Given the description of an element on the screen output the (x, y) to click on. 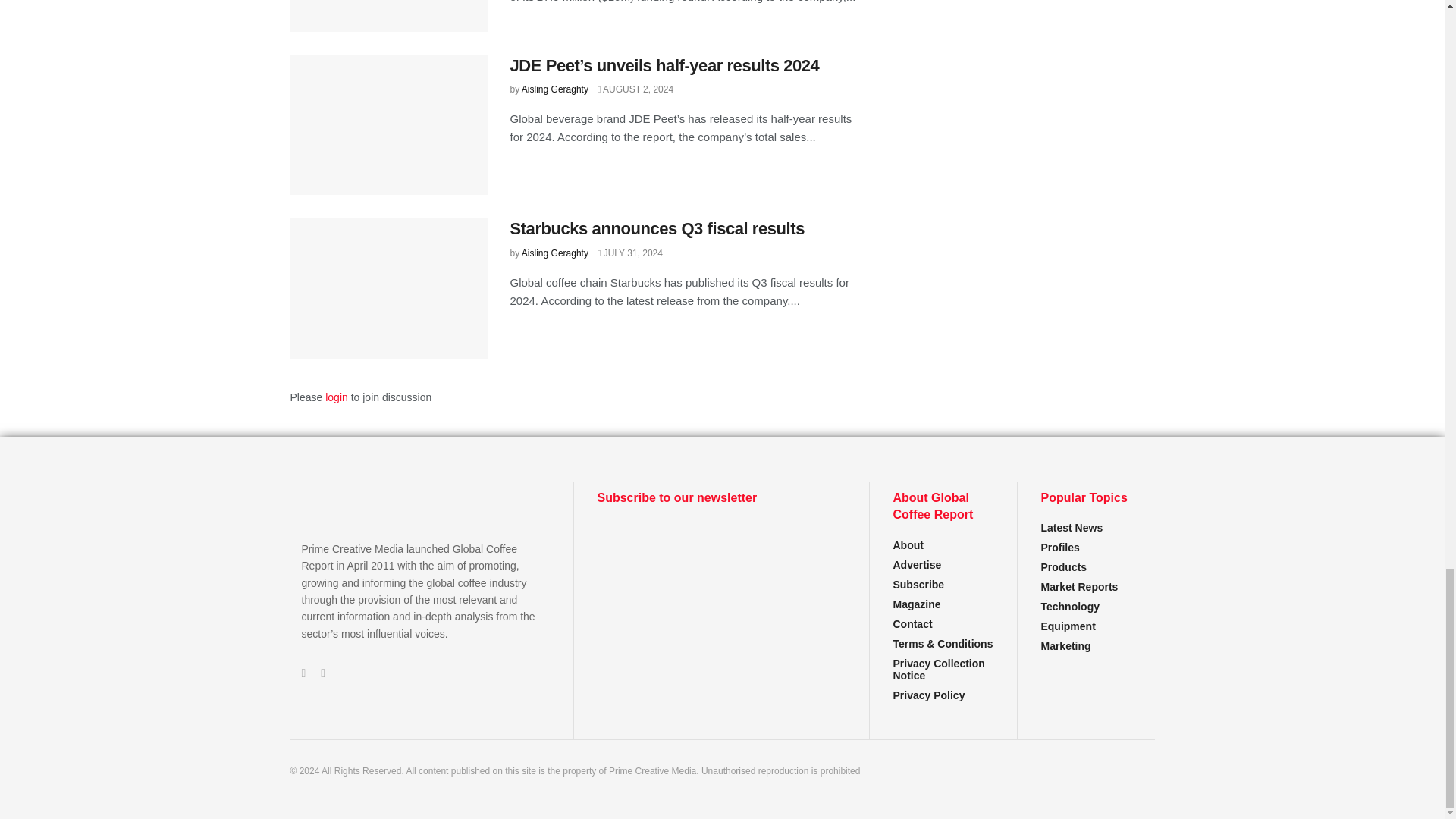
Newsletter signup for Footer (720, 578)
